Given the description of an element on the screen output the (x, y) to click on. 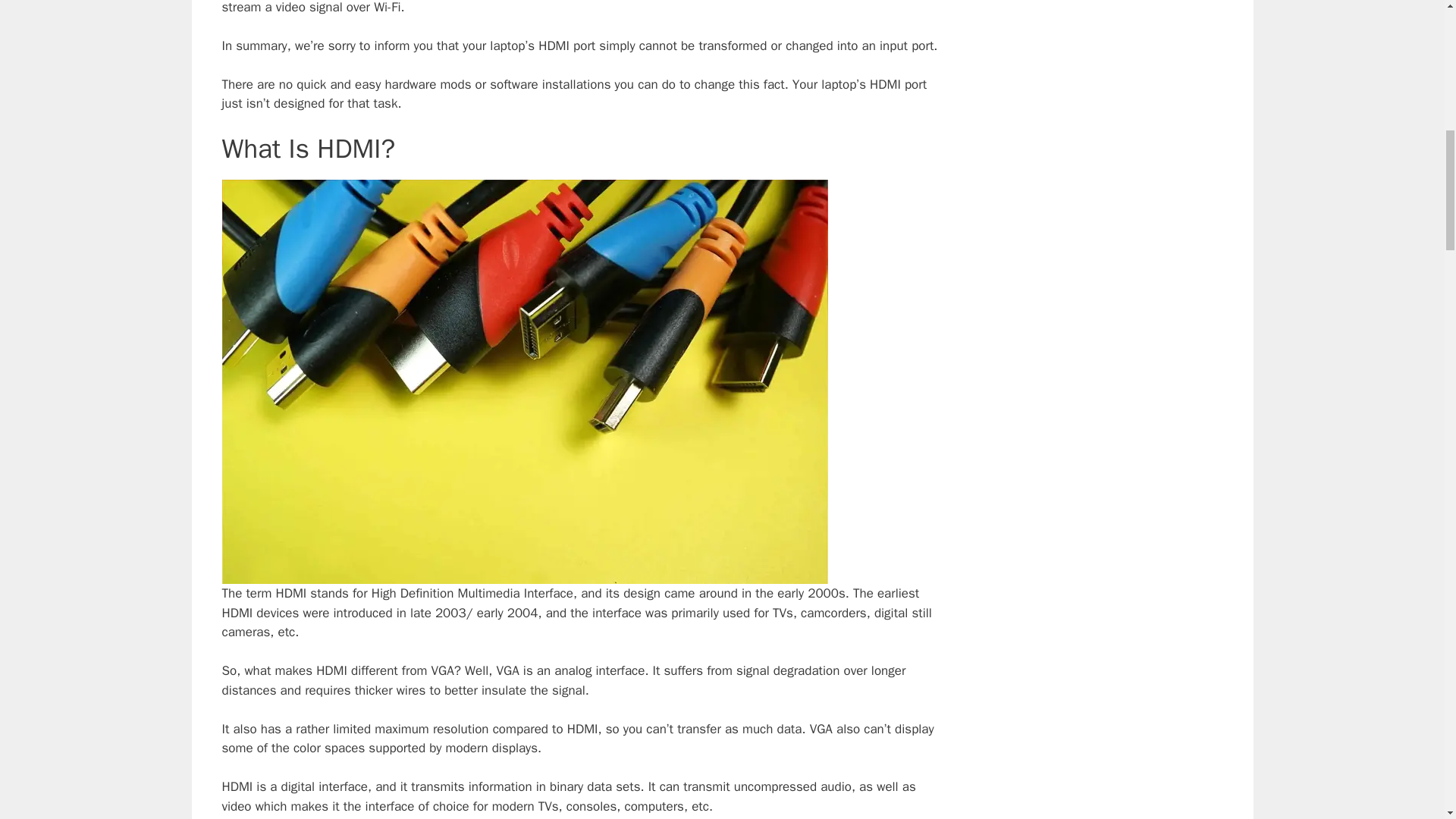
Scroll back to top (1406, 720)
